Given the description of an element on the screen output the (x, y) to click on. 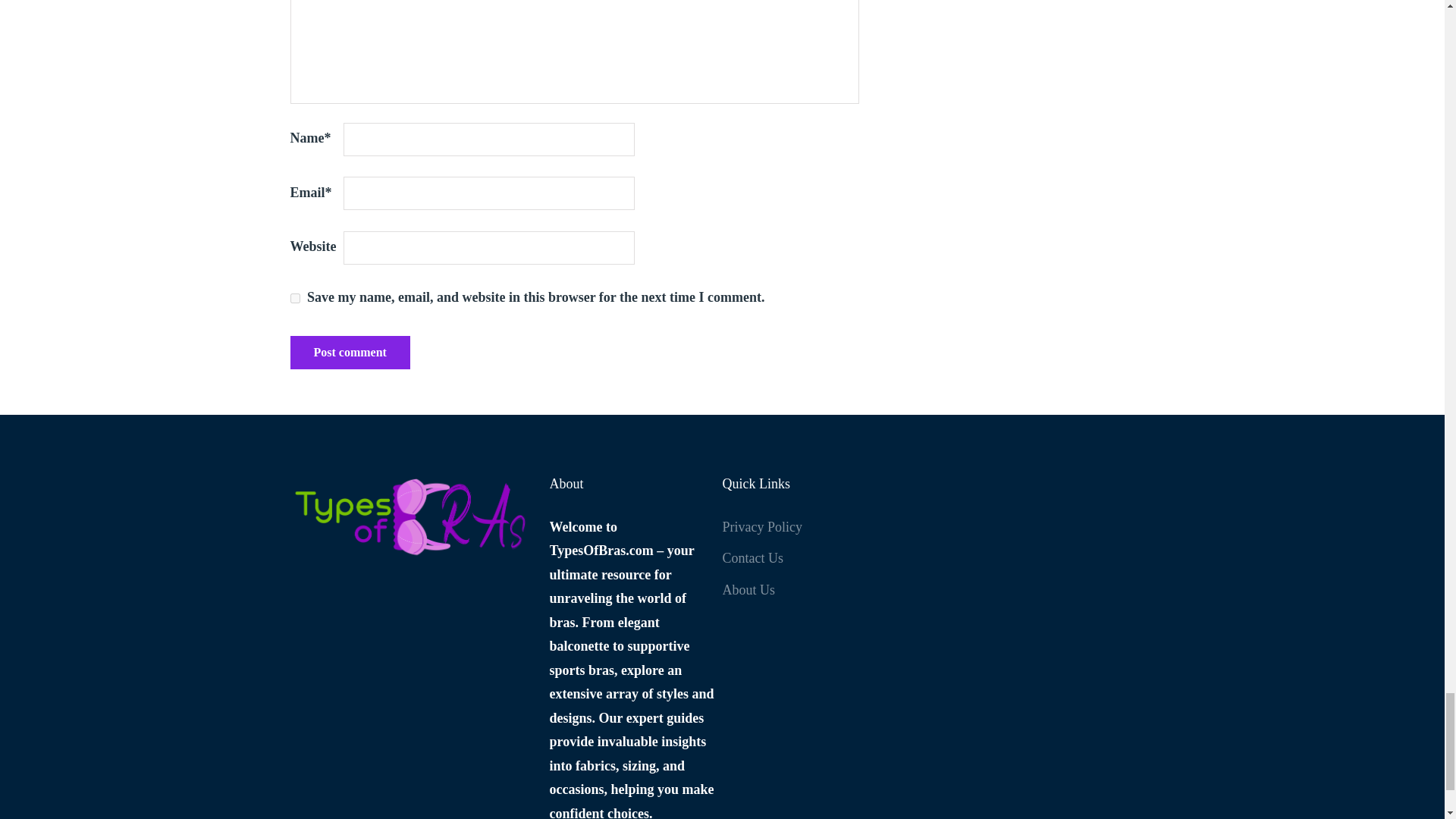
Post comment (349, 352)
yes (294, 298)
